Given the description of an element on the screen output the (x, y) to click on. 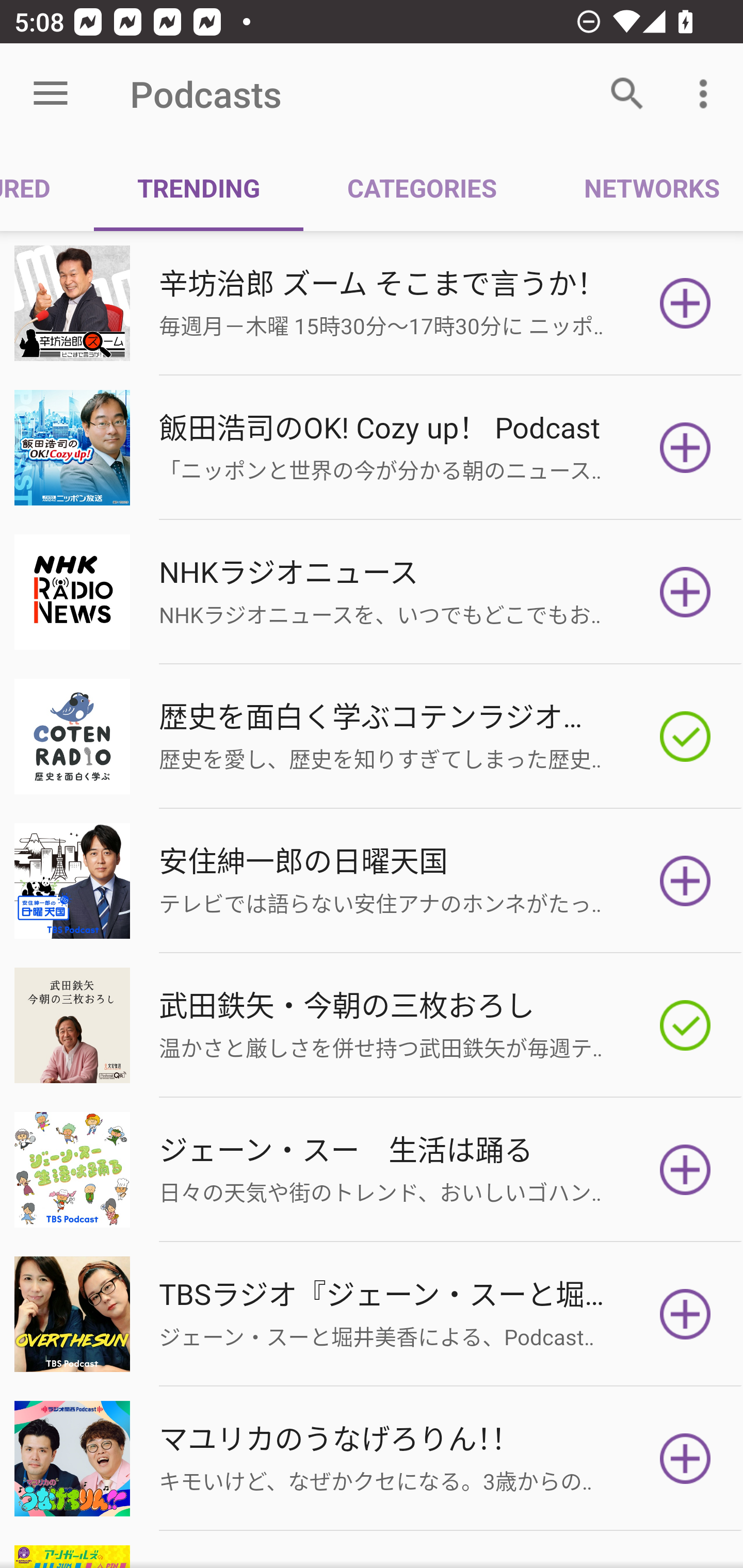
Open menu (50, 93)
Search (626, 93)
More options (706, 93)
TRENDING (198, 187)
CATEGORIES (421, 187)
NETWORKS (641, 187)
Subscribe (685, 303)
Subscribe (685, 447)
Subscribe (685, 591)
Subscribed (685, 736)
Subscribe (685, 881)
Subscribed (685, 1025)
Subscribe (685, 1169)
Subscribe (685, 1313)
Subscribe (685, 1458)
